Given the description of an element on the screen output the (x, y) to click on. 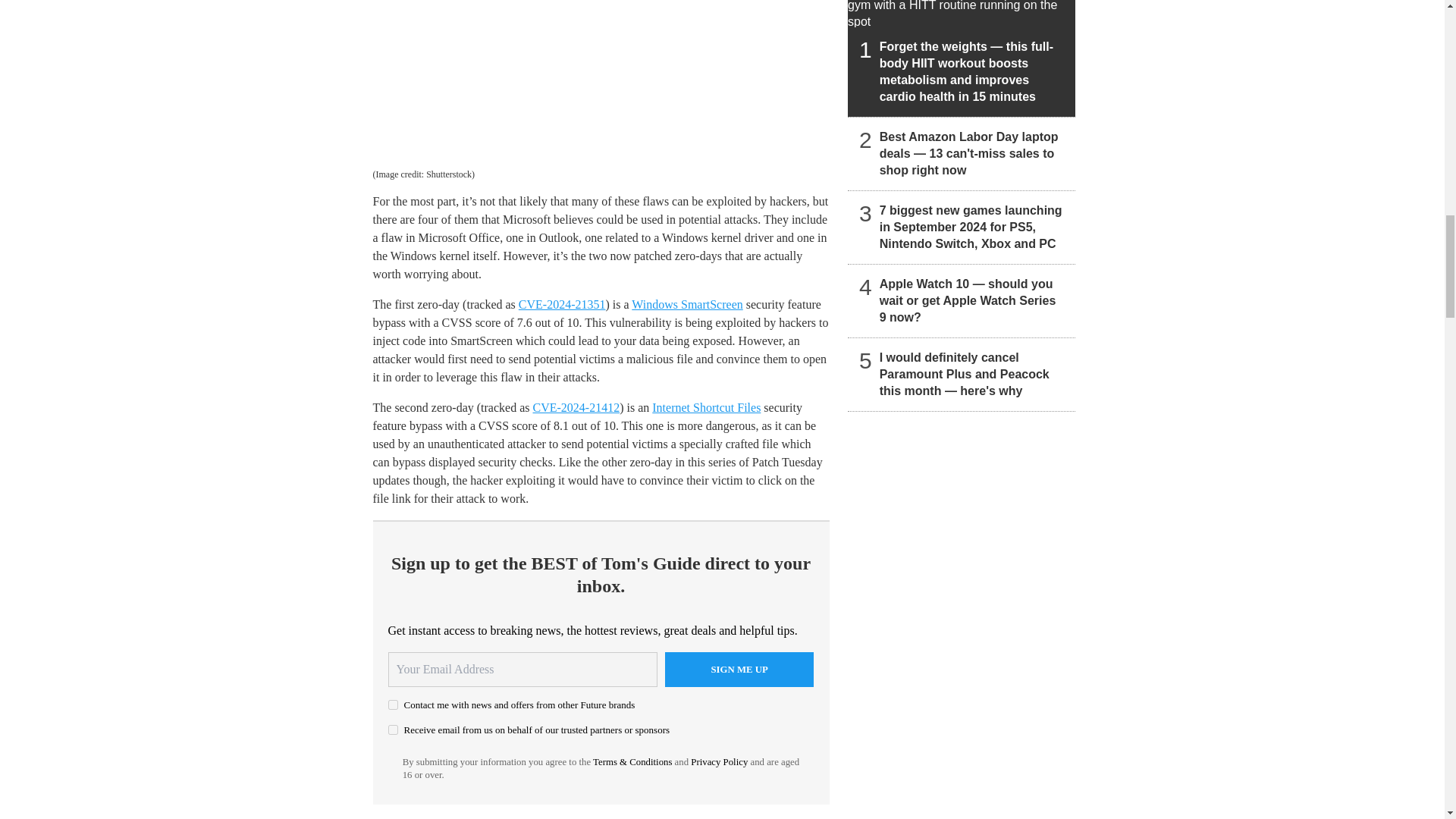
on (392, 729)
Sign me up (739, 669)
on (392, 705)
